Given the description of an element on the screen output the (x, y) to click on. 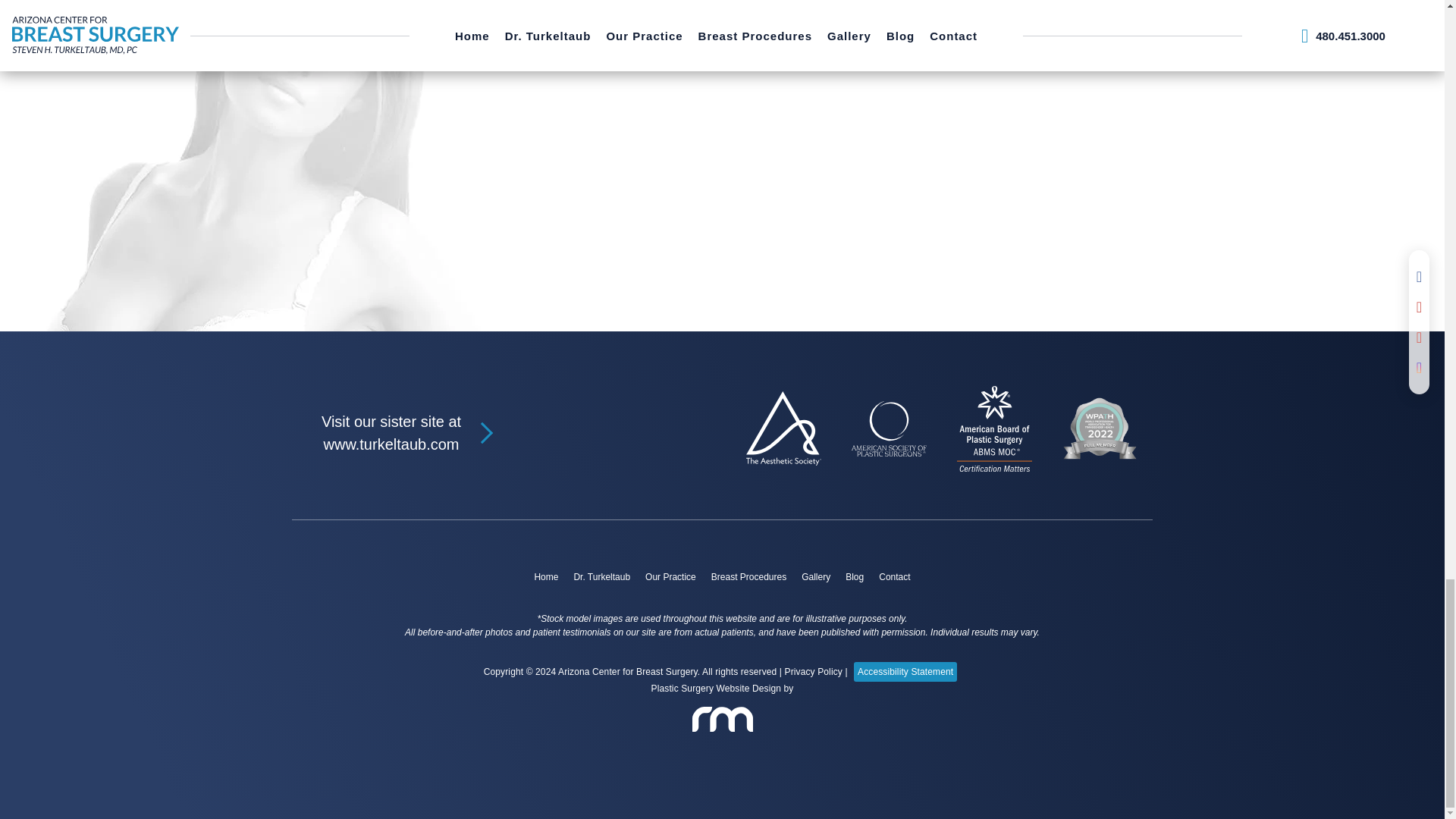
accessibility-statement (904, 671)
